Given the description of an element on the screen output the (x, y) to click on. 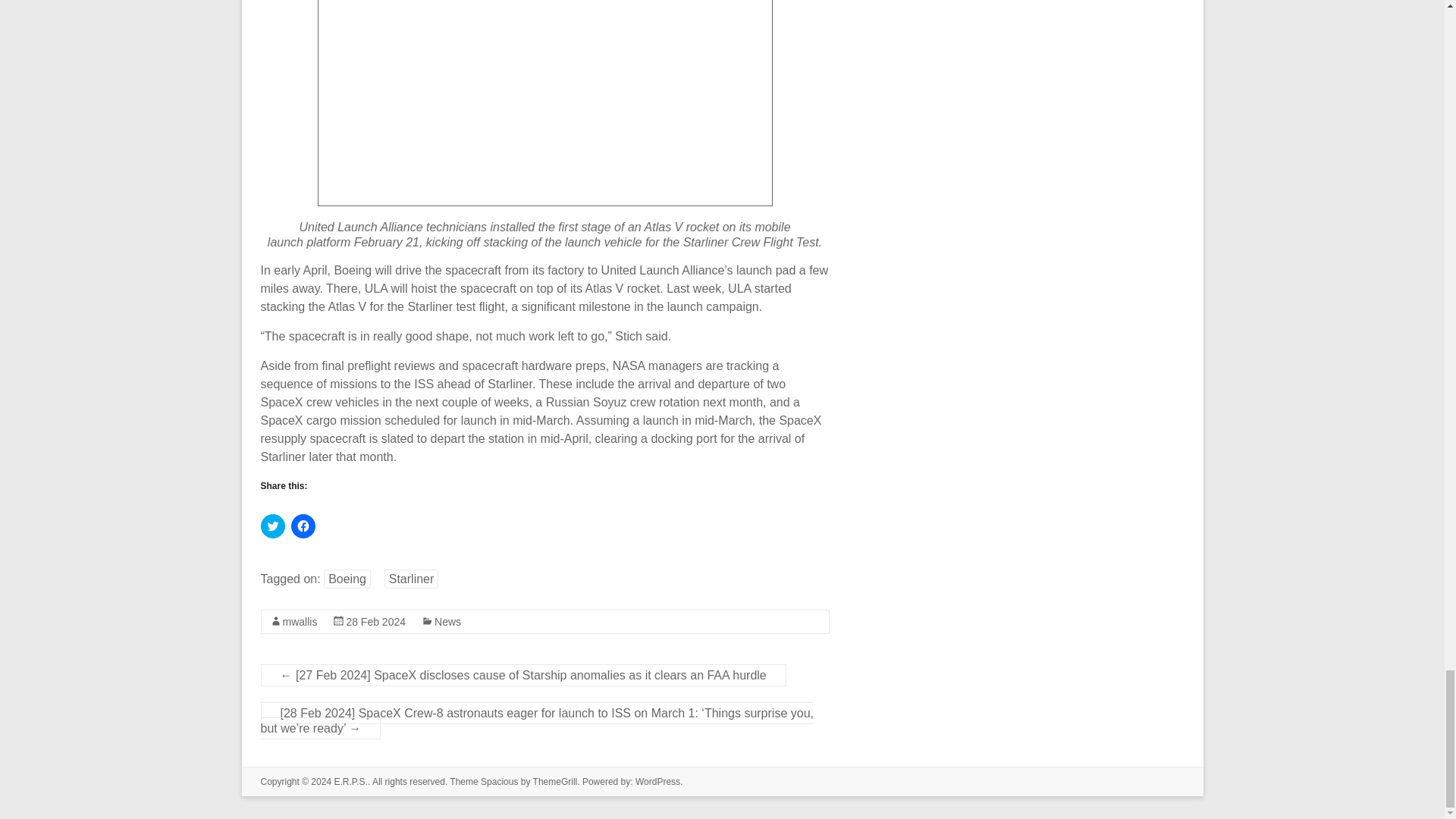
mwallis (299, 621)
Click to share on Twitter (272, 526)
E.R.P.S. (349, 781)
28 Feb 2024 (376, 621)
10:32 (376, 621)
WordPress (656, 781)
Boeing (347, 578)
Spacious (499, 781)
Starliner (411, 578)
Click to share on Facebook (303, 526)
